Given the description of an element on the screen output the (x, y) to click on. 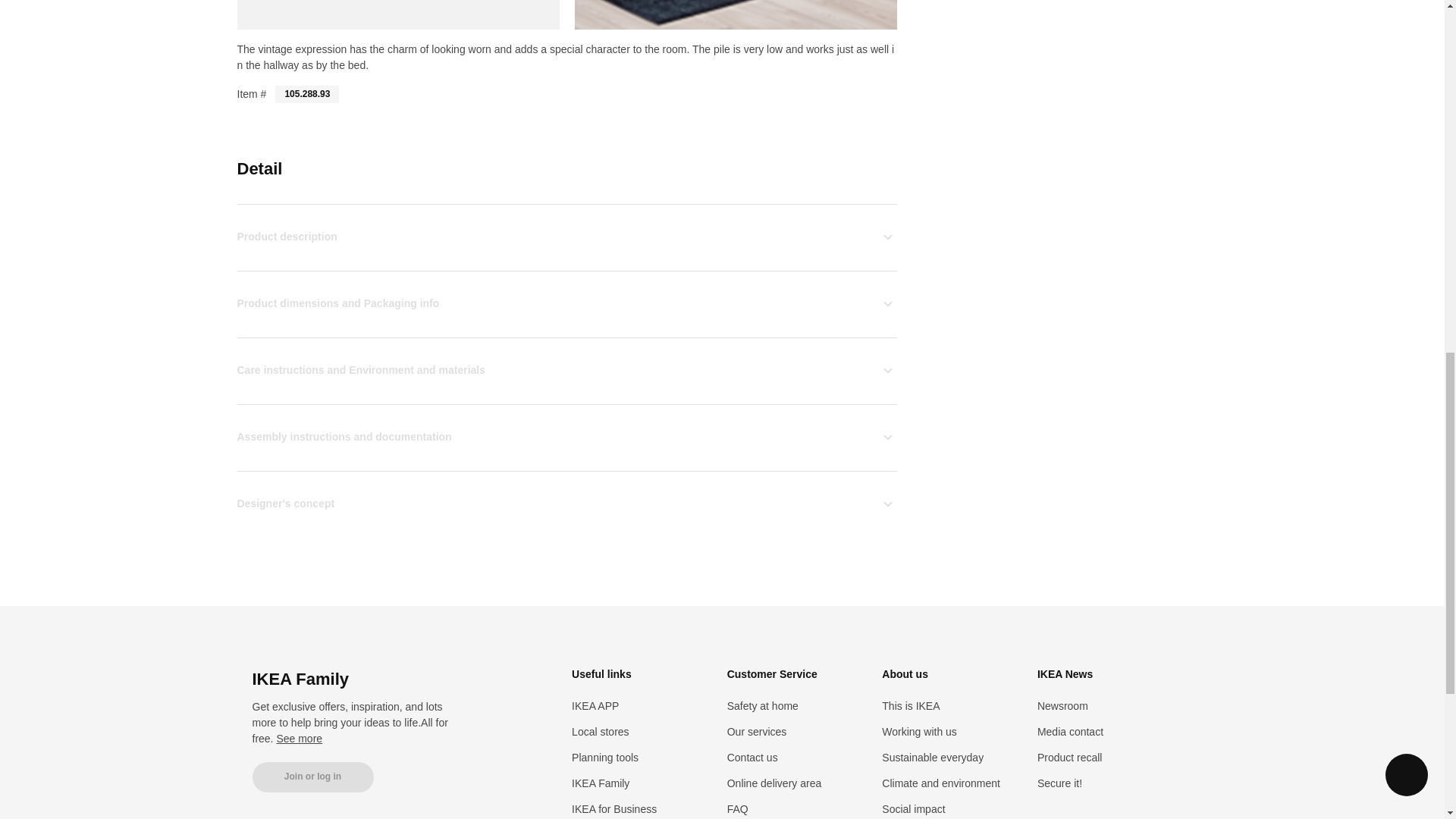
Assembly instructions and documentation (565, 436)
Designer's concept (565, 503)
Care instructions and Environment and materials (565, 369)
Join or log in (311, 776)
Our services (756, 730)
Product dimensions and Packaging info (565, 303)
Contact us (751, 756)
Planning tools (605, 756)
Local stores (600, 730)
Safety at home (761, 705)
IKEA Family (600, 782)
IKEA for Business (614, 808)
Product description (565, 236)
IKEA APP (595, 705)
See more (298, 738)
